Given the description of an element on the screen output the (x, y) to click on. 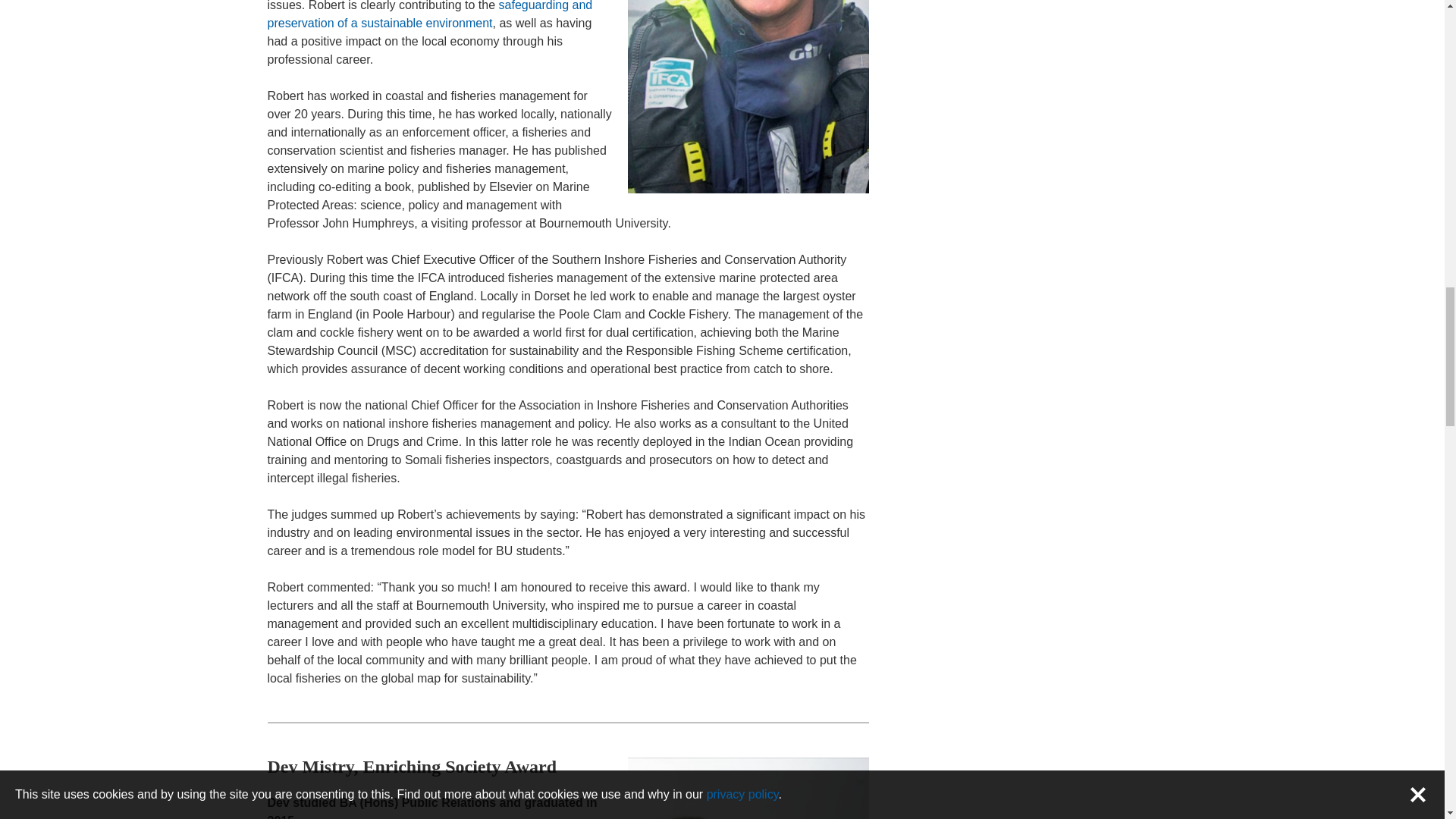
Robert Clarke (747, 96)
